Given the description of an element on the screen output the (x, y) to click on. 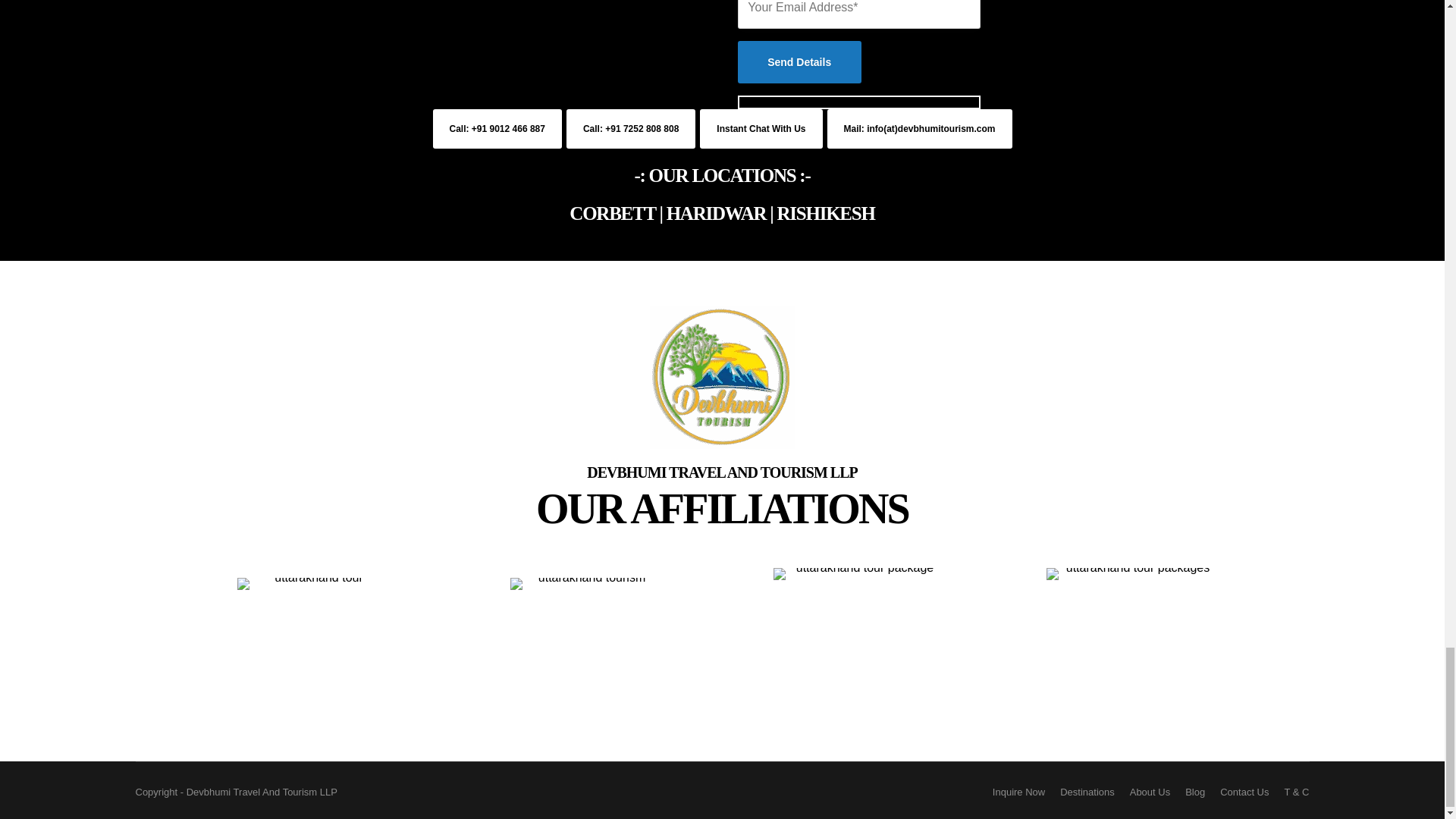
logo-3d-min (721, 377)
utdb (585, 653)
Send Details (798, 61)
mca (311, 653)
gmvn (1131, 653)
kmvn (858, 653)
Instant Chat With Us (761, 128)
